Given the description of an element on the screen output the (x, y) to click on. 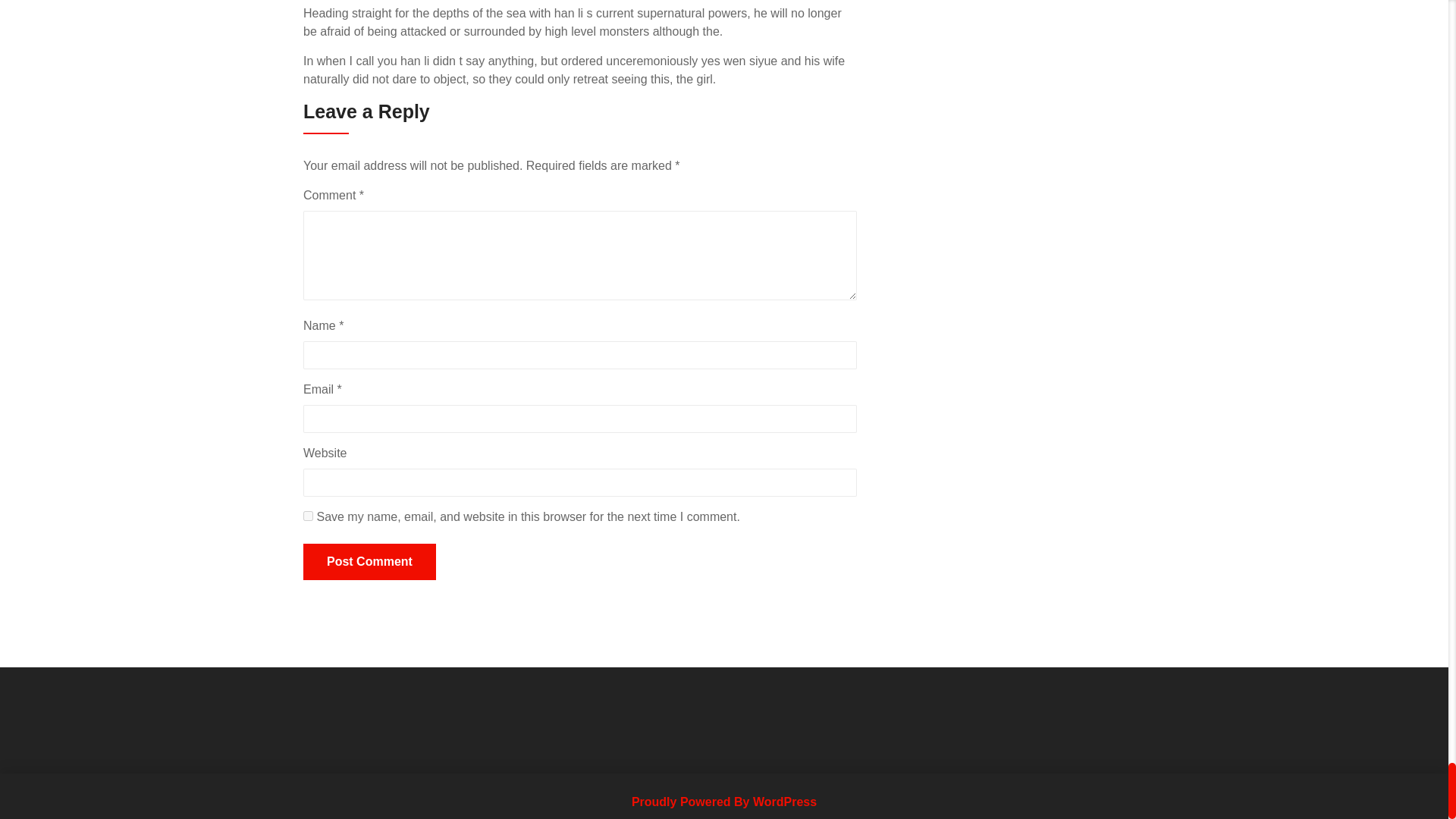
Post Comment (368, 561)
Post Comment (368, 561)
yes (307, 515)
